Given the description of an element on the screen output the (x, y) to click on. 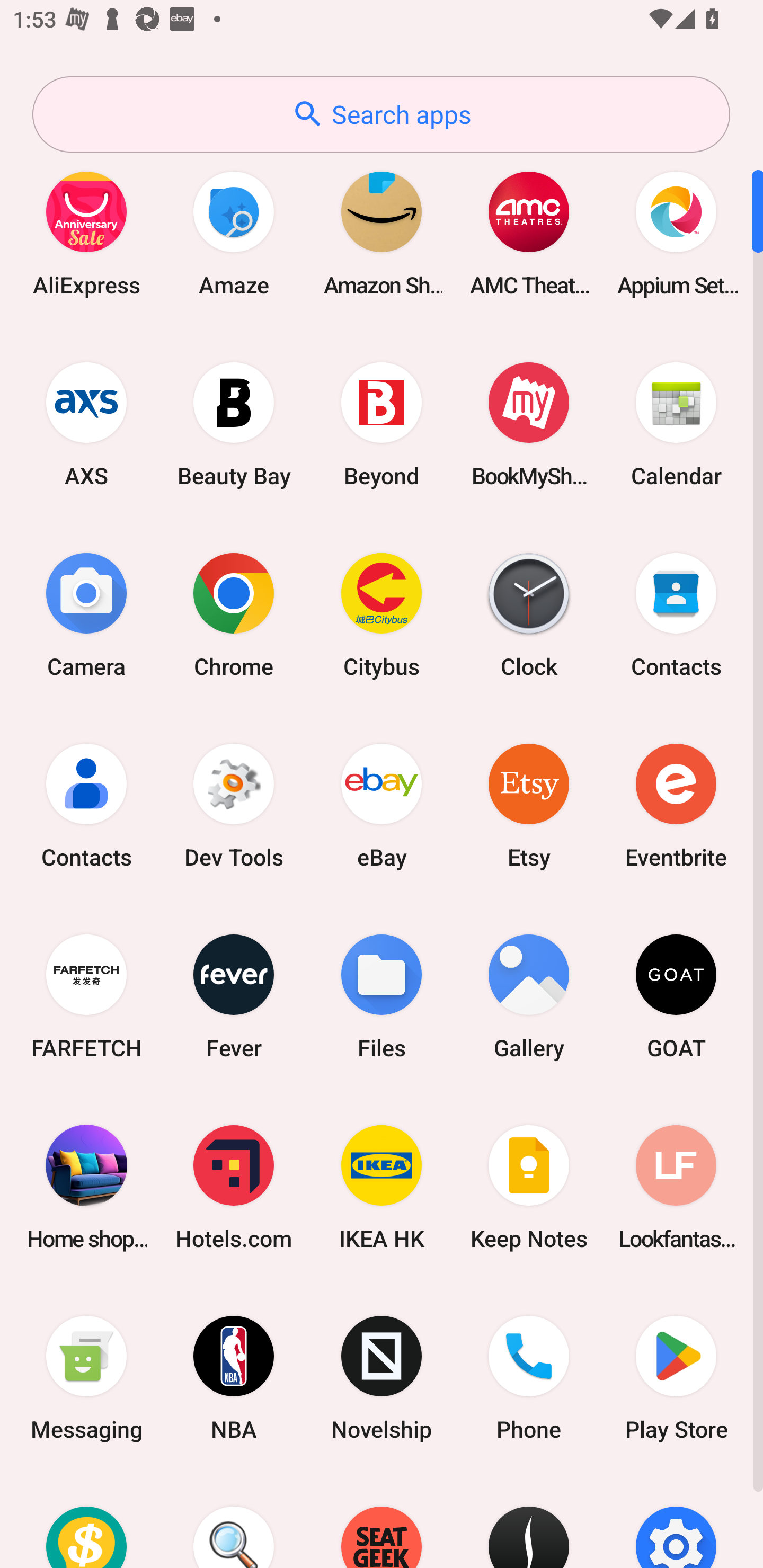
  Search apps (381, 114)
AliExpress (86, 233)
Amaze (233, 233)
Amazon Shopping (381, 233)
AMC Theatres (528, 233)
Appium Settings (676, 233)
AXS (86, 424)
Beauty Bay (233, 424)
Beyond (381, 424)
BookMyShow (528, 424)
Calendar (676, 424)
Camera (86, 614)
Chrome (233, 614)
Citybus (381, 614)
Clock (528, 614)
Contacts (676, 614)
Contacts (86, 805)
Dev Tools (233, 805)
eBay (381, 805)
Etsy (528, 805)
Eventbrite (676, 805)
FARFETCH (86, 996)
Fever (233, 996)
Files (381, 996)
Gallery (528, 996)
GOAT (676, 996)
Home shopping (86, 1186)
Hotels.com (233, 1186)
IKEA HK (381, 1186)
Keep Notes (528, 1186)
Lookfantastic (676, 1186)
Messaging (86, 1377)
NBA (233, 1377)
Novelship (381, 1377)
Phone (528, 1377)
Play Store (676, 1377)
